Given the description of an element on the screen output the (x, y) to click on. 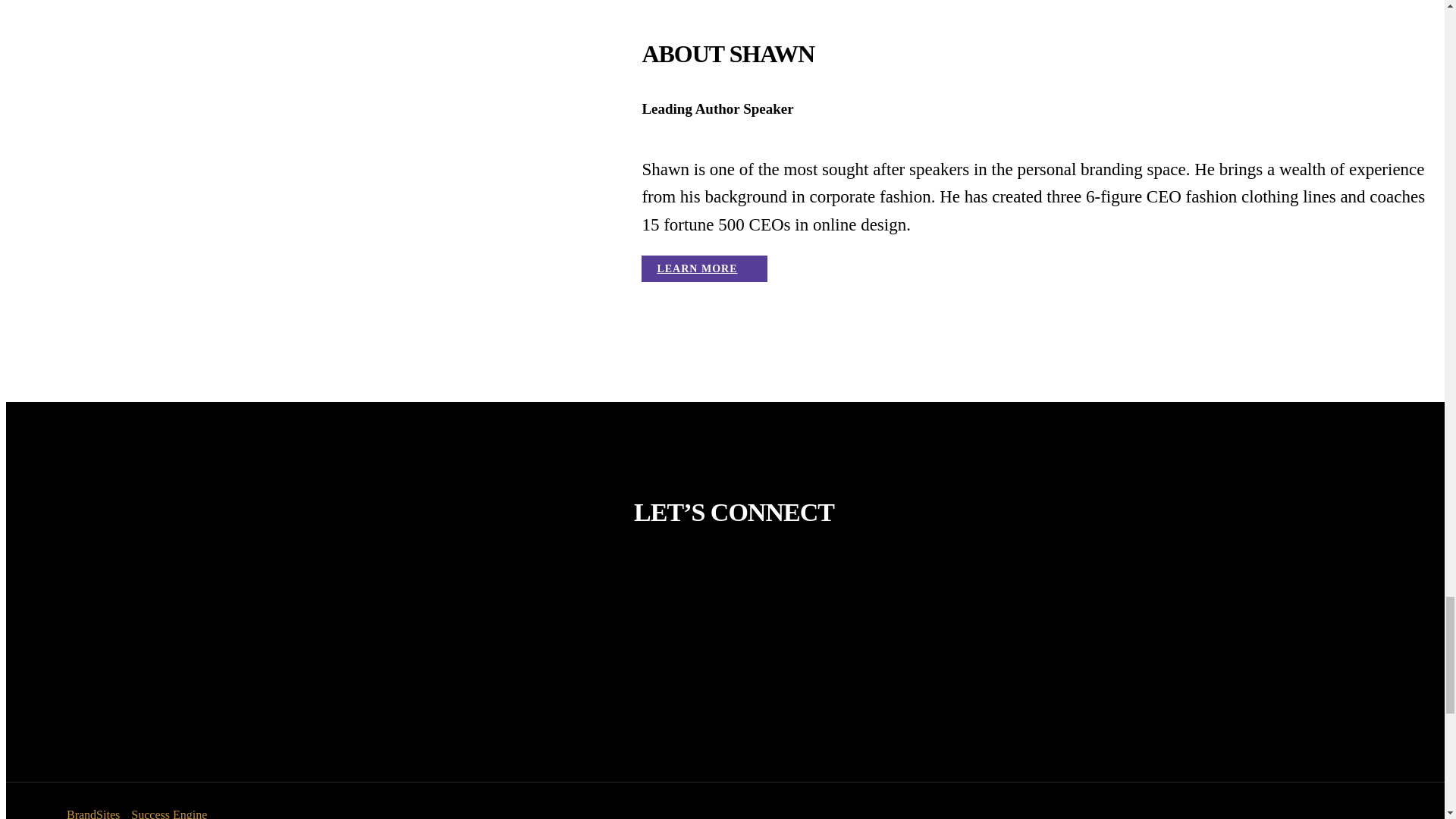
BrandSites (92, 813)
LEARN MORE (704, 268)
Success Engine (168, 813)
